Given the description of an element on the screen output the (x, y) to click on. 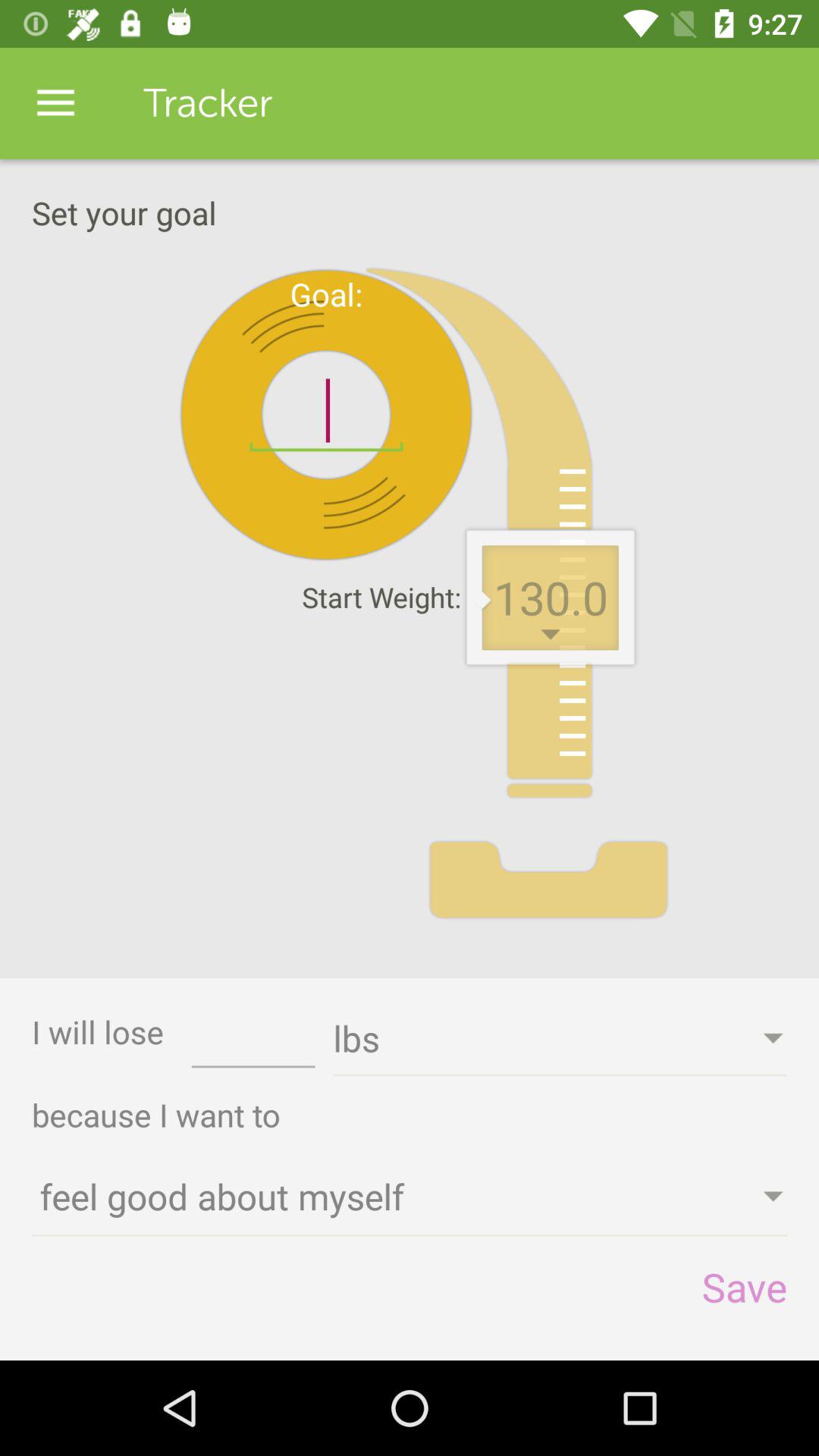
press the icon to the right of the i will lose (253, 1043)
